Given the description of an element on the screen output the (x, y) to click on. 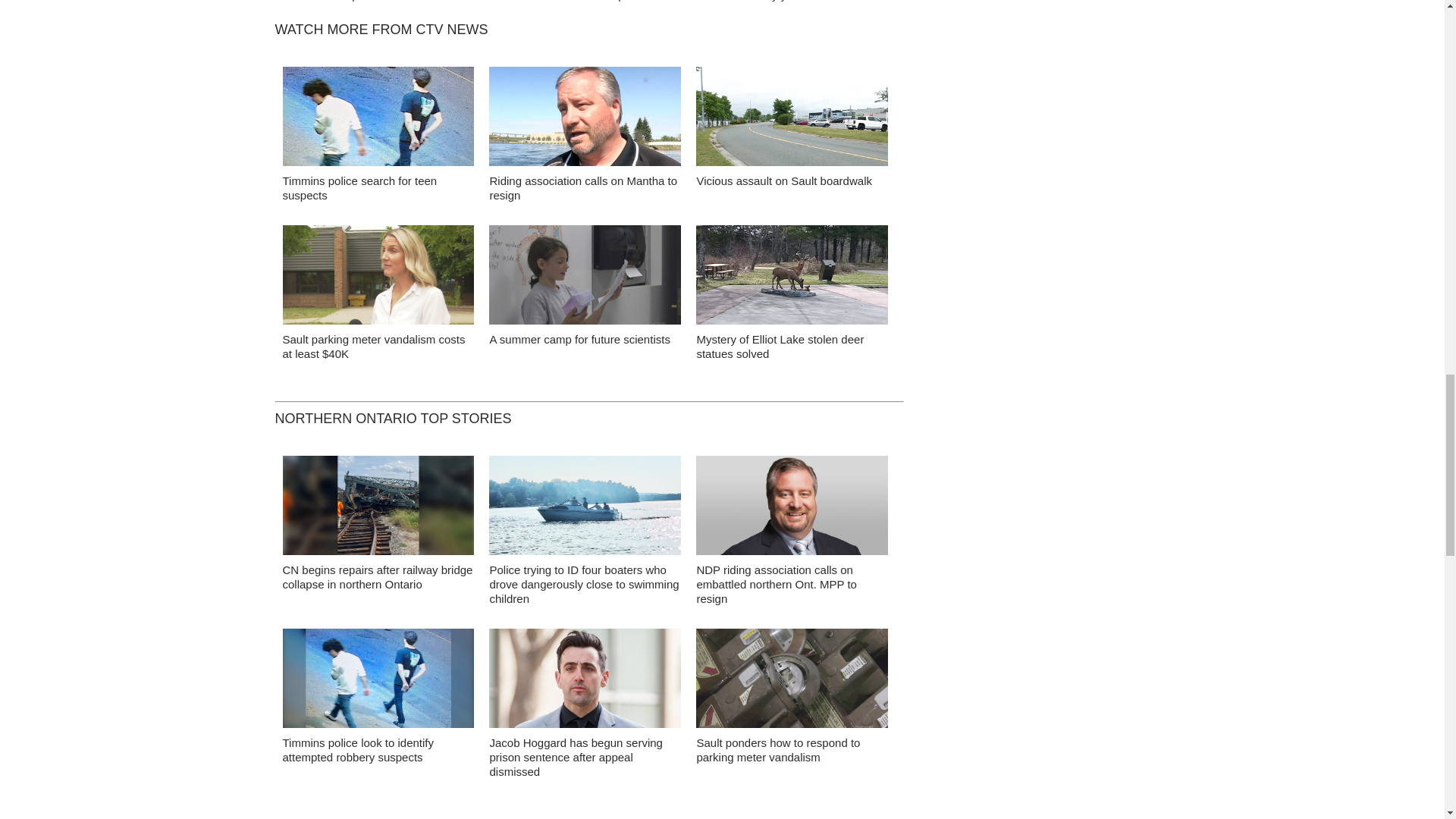
Report Error (363, 2)
Why you can trust CTV News (820, 2)
false (378, 274)
Mystery of Elliot Lake stolen deer statues solved (779, 346)
false (585, 116)
Timmins police search for teen suspects (359, 187)
Editorial standards and policies (569, 2)
Riding association calls on Mantha to resign (583, 187)
